Given the description of an element on the screen output the (x, y) to click on. 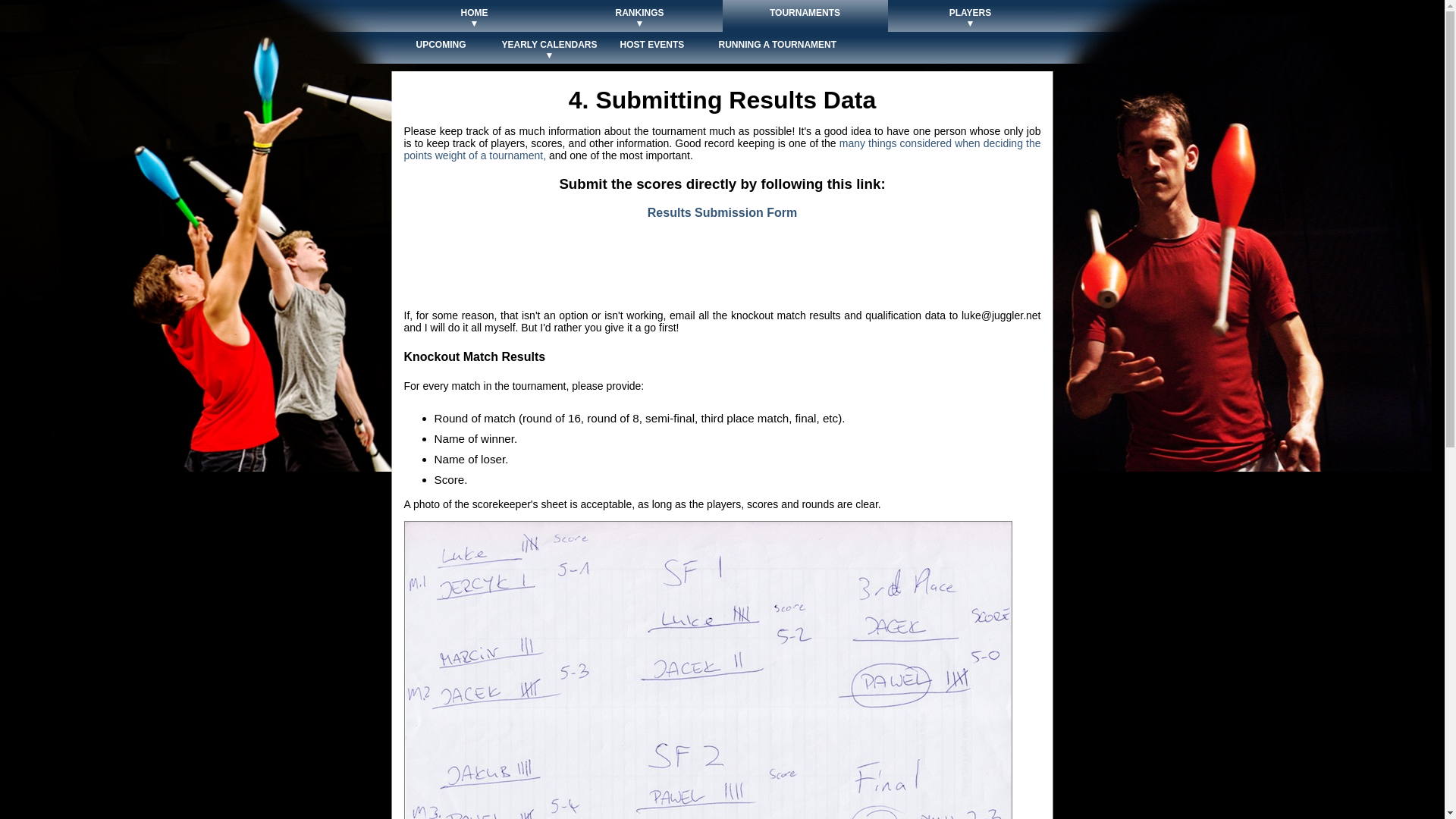
UPCOMING (441, 50)
TOURNAMENTS (804, 18)
